Given the description of an element on the screen output the (x, y) to click on. 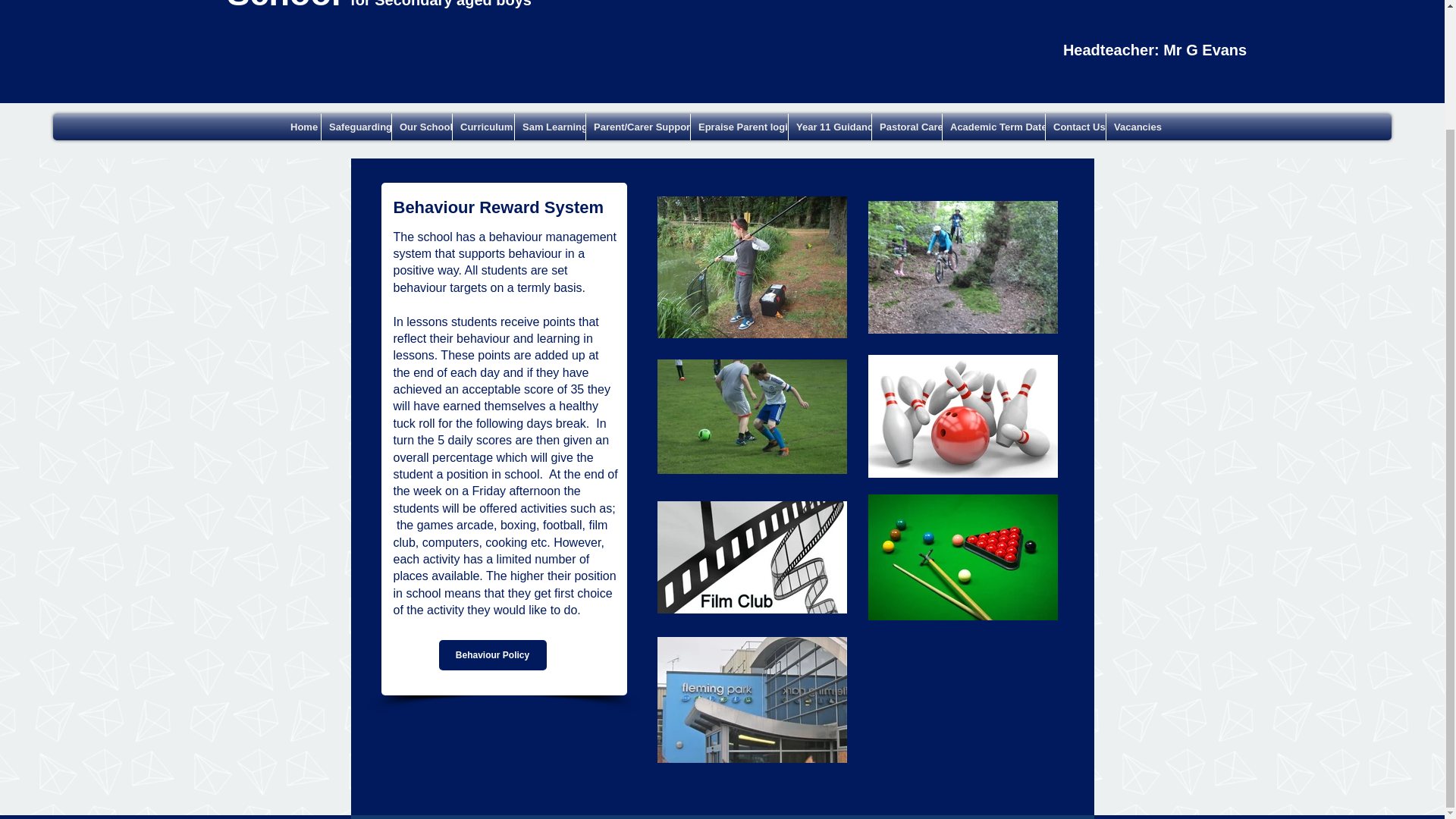
Sam Learning (550, 126)
Epraise Parent login (738, 126)
Home (301, 126)
Pastoral Care (907, 126)
Our School (421, 126)
Safeguarding (356, 126)
Curriculum (482, 126)
Year 11 Guidance (829, 126)
